Given the description of an element on the screen output the (x, y) to click on. 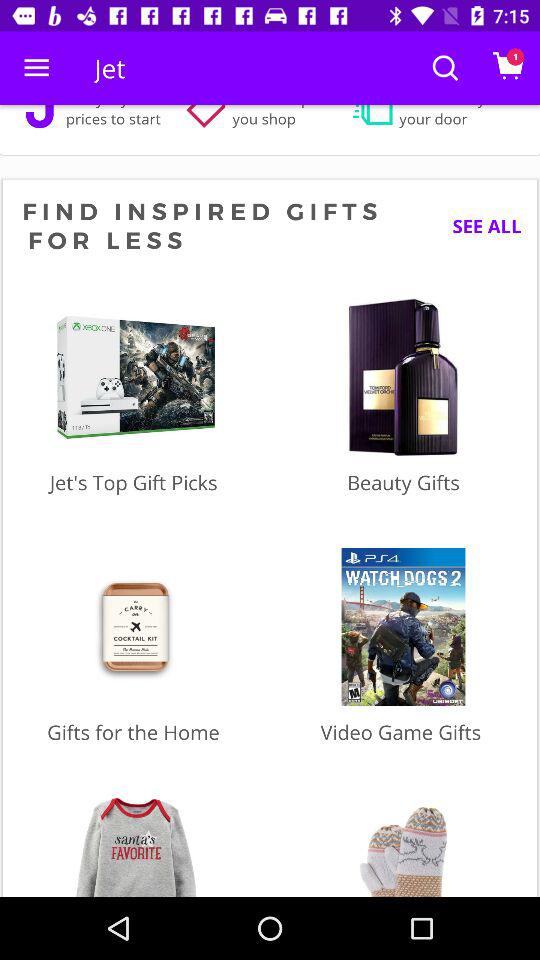
jump until the see all icon (479, 225)
